Given the description of an element on the screen output the (x, y) to click on. 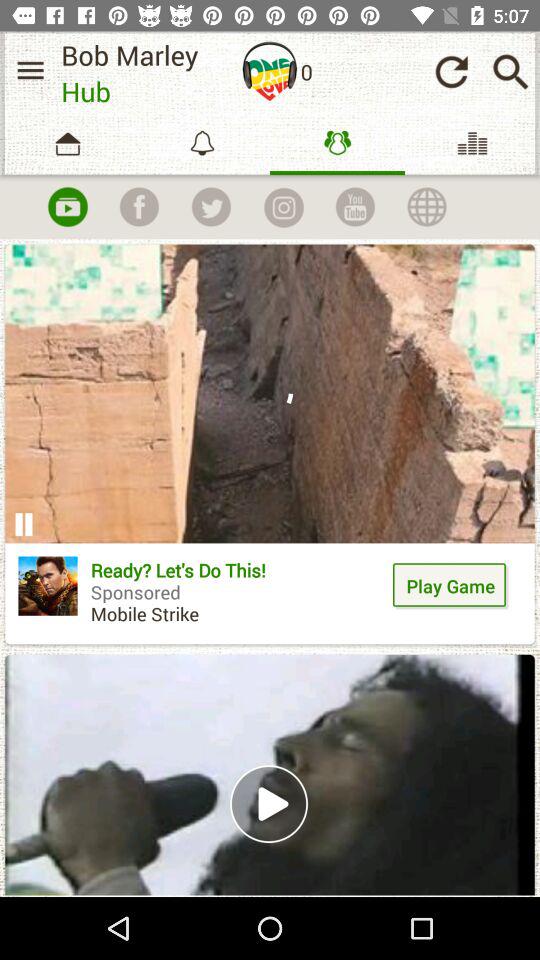
refresh (451, 71)
